Given the description of an element on the screen output the (x, y) to click on. 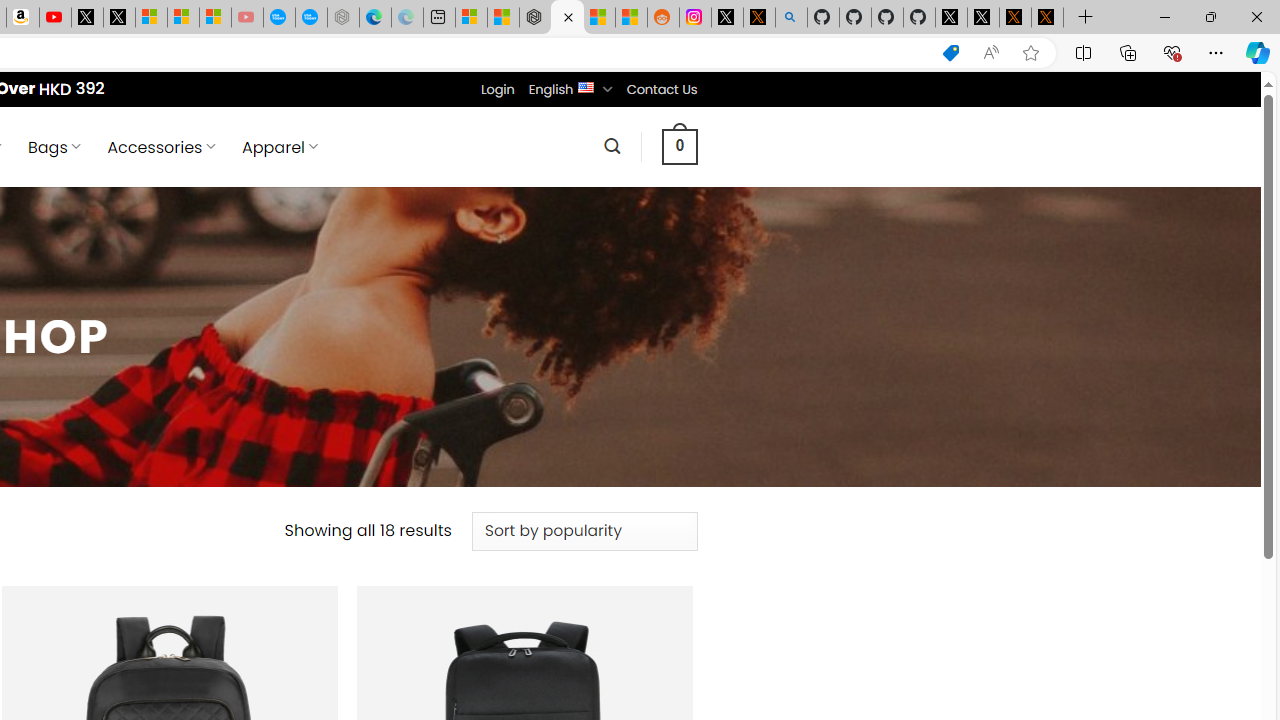
Split screen (1083, 52)
Profile / X (950, 17)
Gloom - YouTube - Sleeping (246, 17)
github - Search (791, 17)
Settings and more (Alt+F) (1215, 52)
Nordace - Nordace has arrived Hong Kong - Sleeping (343, 17)
Contact Us (661, 89)
GitHub (@github) / X (983, 17)
Add this page to favorites (Ctrl+D) (1030, 53)
